Given the description of an element on the screen output the (x, y) to click on. 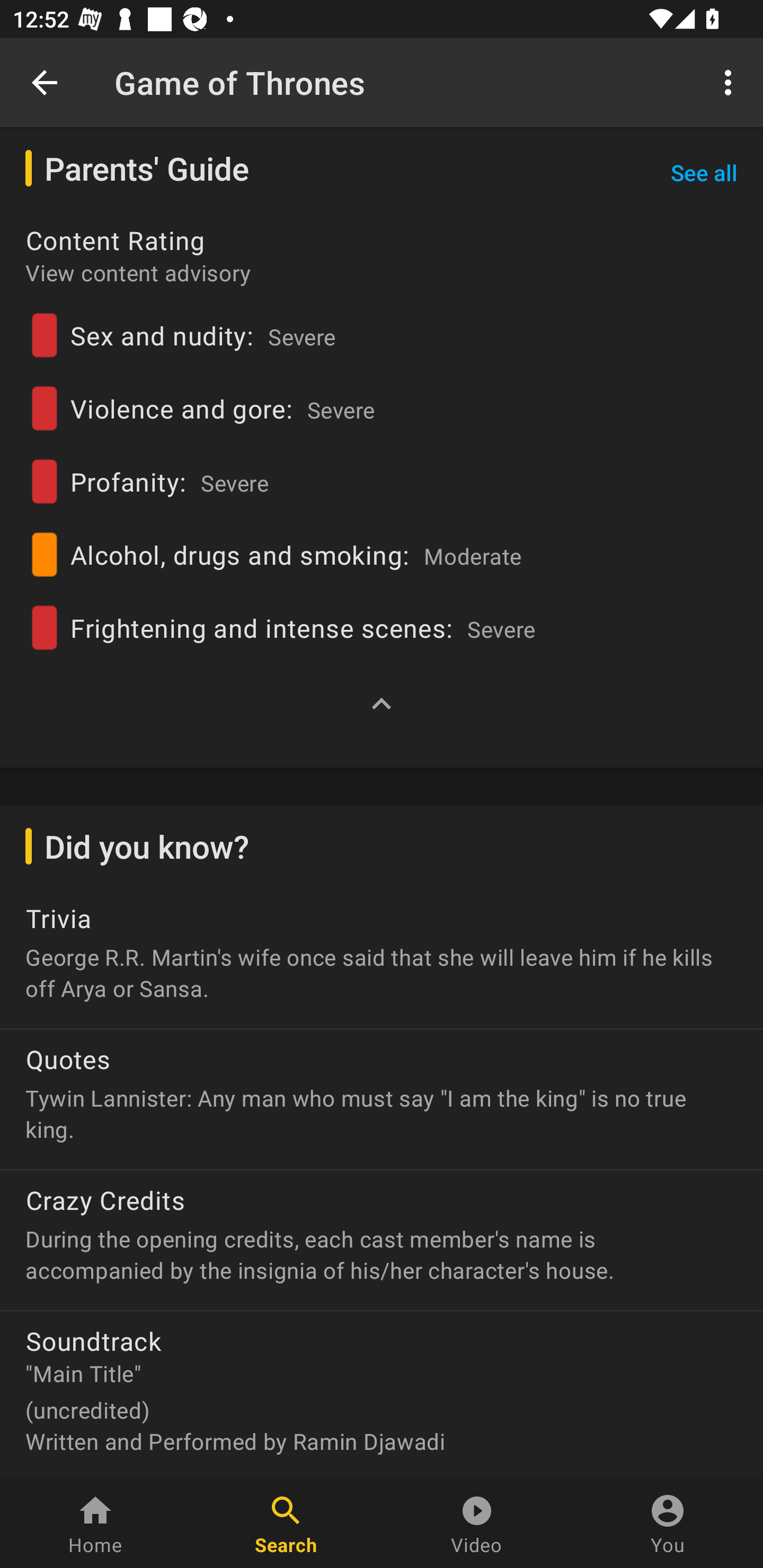
More options (731, 81)
See all See all  (703, 172)
Content Rating View content advisory (381, 261)
Home (95, 1523)
Video (476, 1523)
You (667, 1523)
